Given the description of an element on the screen output the (x, y) to click on. 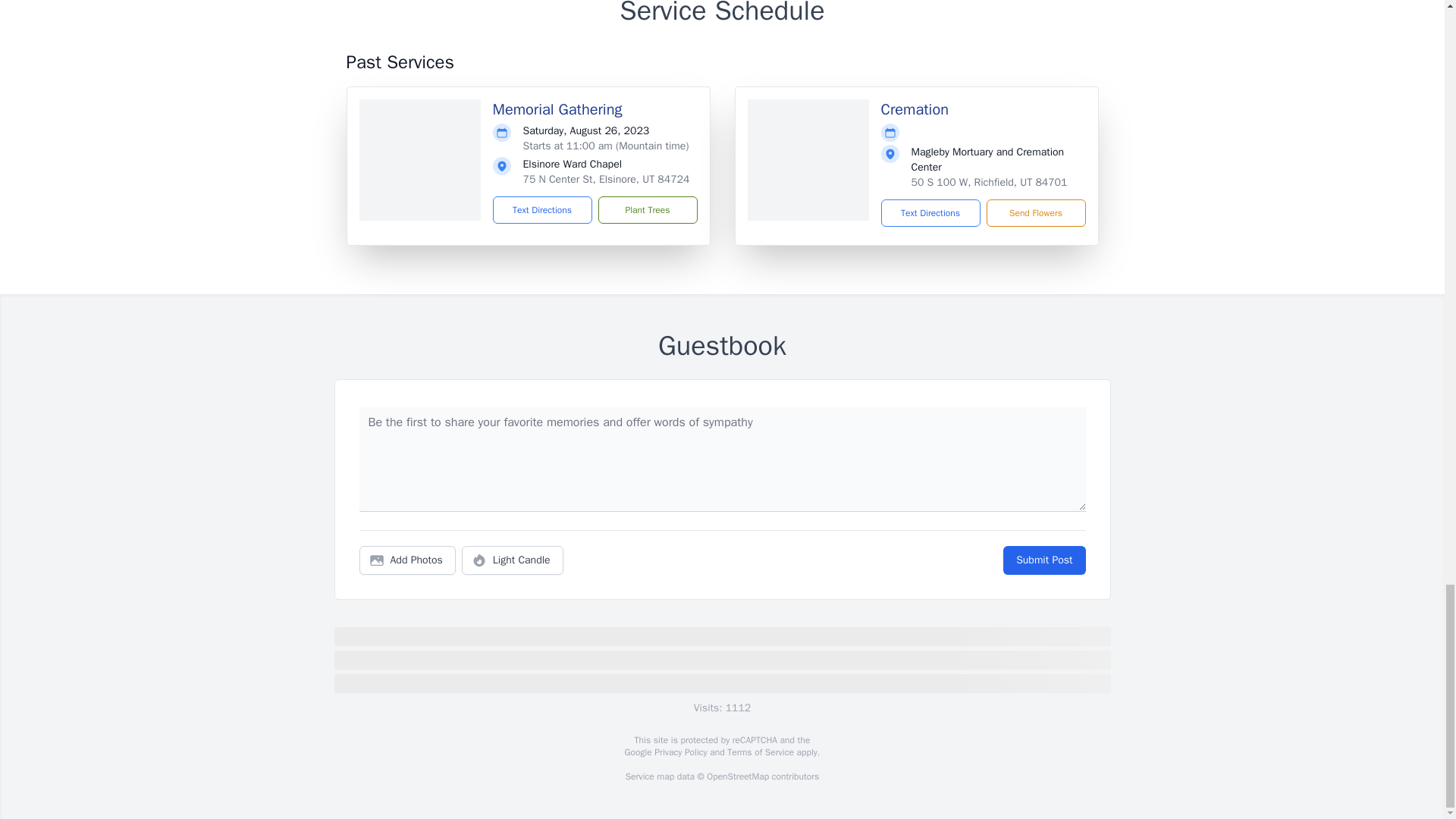
Send Flowers (1034, 212)
Submit Post (1043, 560)
50 S 100 W, Richfield, UT 84701 (989, 182)
OpenStreetMap (737, 776)
Privacy Policy (679, 752)
Text Directions (542, 209)
Terms of Service (759, 752)
Light Candle (512, 560)
Plant Trees (646, 209)
Add Photos (407, 560)
Text Directions (929, 212)
75 N Center St, Elsinore, UT 84724 (606, 178)
